Given the description of an element on the screen output the (x, y) to click on. 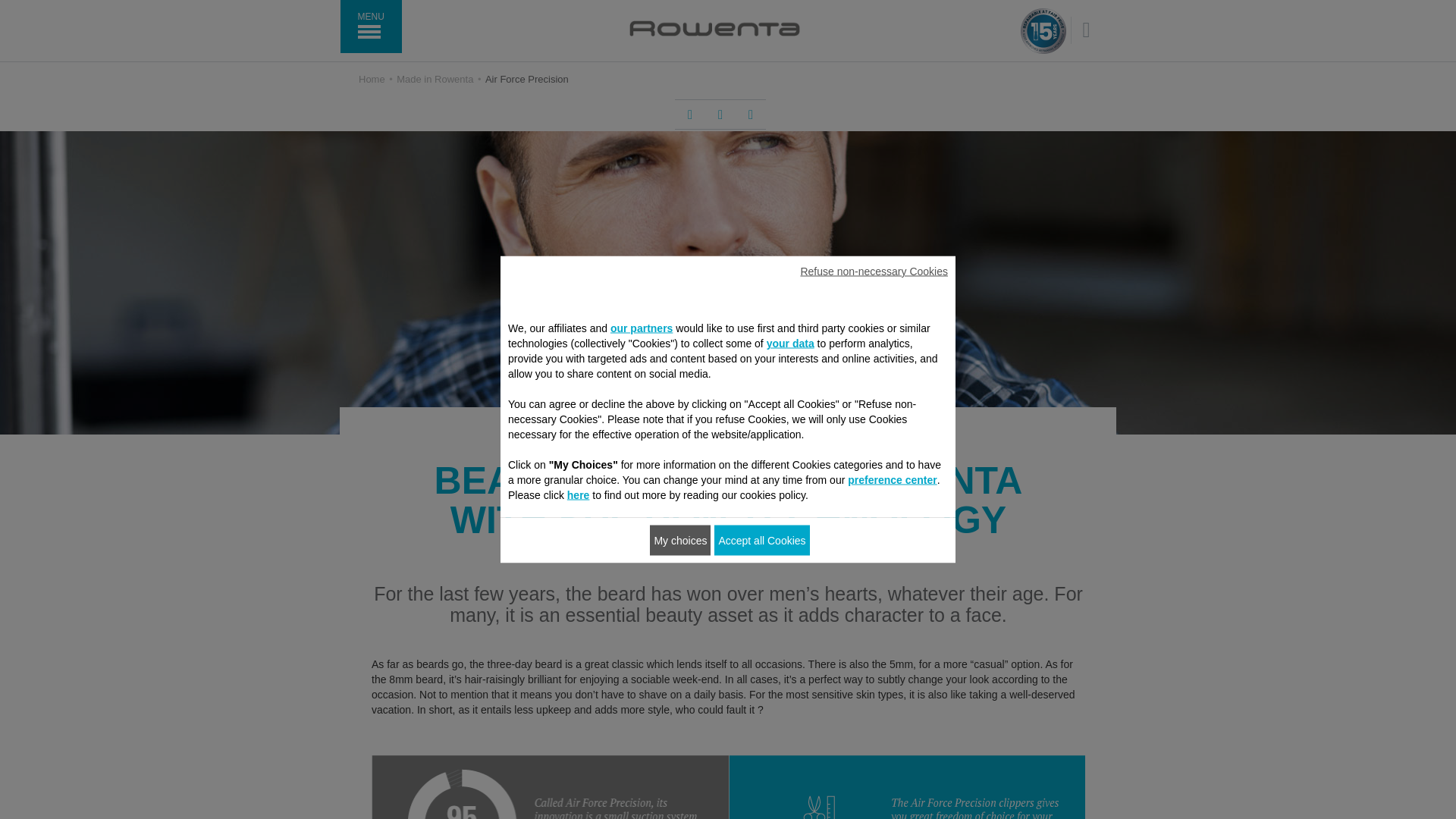
MENU (370, 26)
Rowenta International (713, 28)
